Given the description of an element on the screen output the (x, y) to click on. 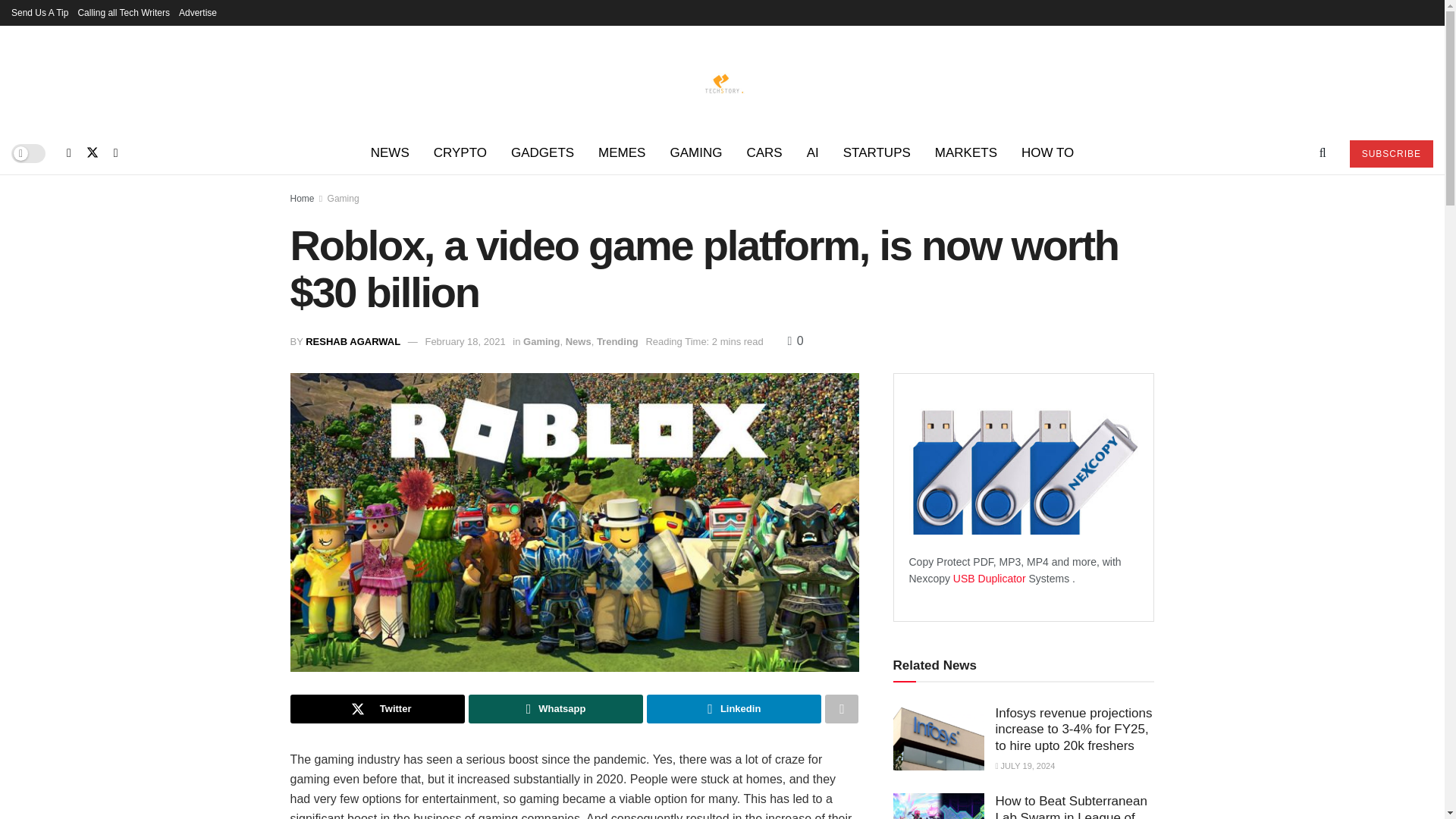
RESHAB AGARWAL (352, 341)
Calling all Tech Writers (123, 12)
MEMES (622, 152)
Send Us A Tip (39, 12)
Advertise (197, 12)
CRYPTO (460, 152)
USB duplicator (989, 578)
MARKETS (966, 152)
Gaming (343, 198)
SUBSCRIBE (1390, 153)
Home (301, 198)
GAMING (695, 152)
STARTUPS (877, 152)
GADGETS (542, 152)
HOW TO (1047, 152)
